Given the description of an element on the screen output the (x, y) to click on. 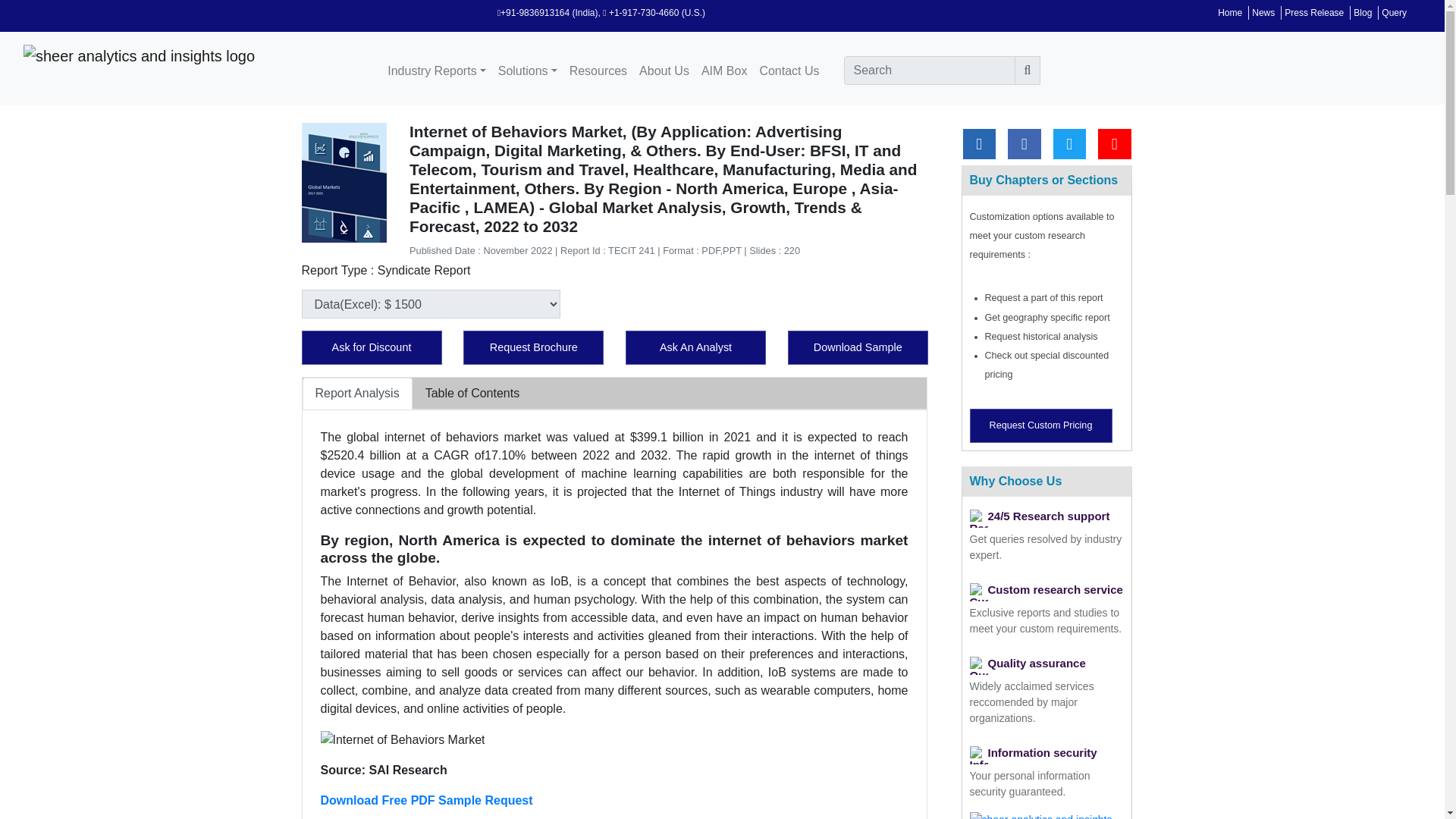
News (1263, 12)
Industry Reports (436, 71)
AIM Box (723, 71)
Blog (1362, 12)
About Us (664, 71)
Press Release (1313, 12)
Resources (598, 71)
Ask for Discount (371, 347)
Home (1229, 12)
Solutions (527, 71)
Query (1393, 12)
Contact Us (788, 71)
